Given the description of an element on the screen output the (x, y) to click on. 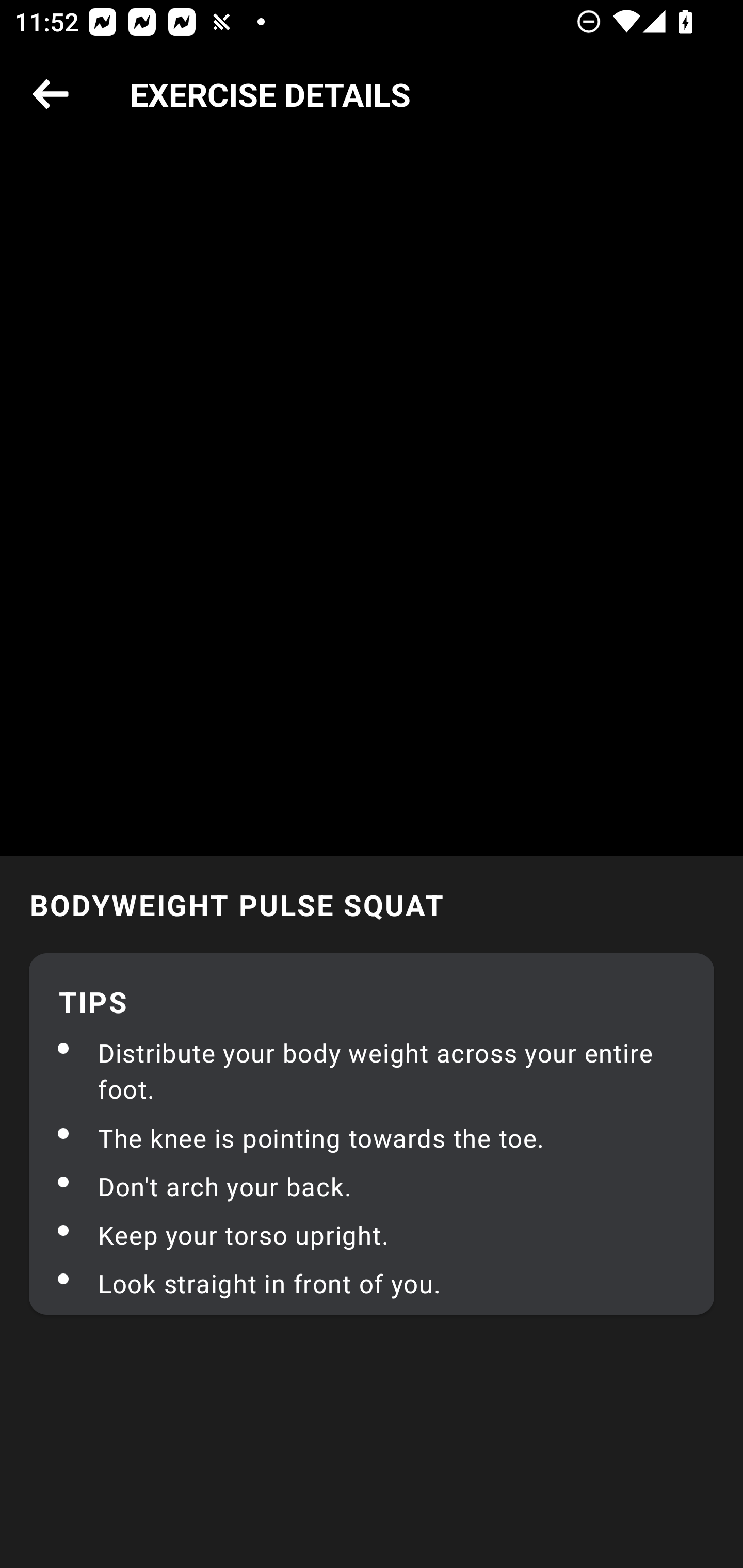
Back Icon (50, 94)
